Given the description of an element on the screen output the (x, y) to click on. 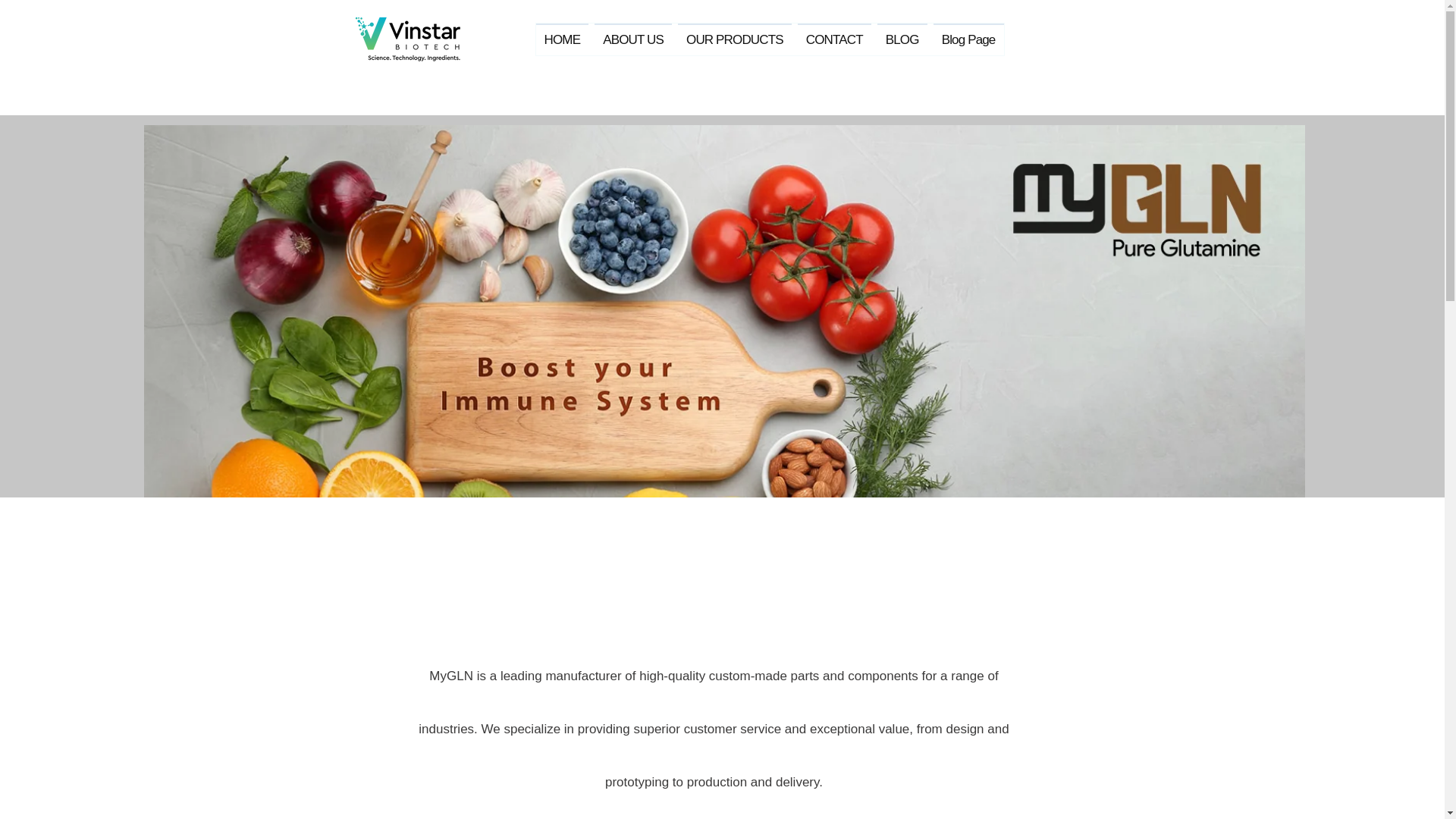
Vinstar Header Logo-2.png (407, 38)
ABOUT US (632, 39)
BLOG (902, 39)
HOME (561, 39)
OUR PRODUCTS (735, 39)
CONTACT (833, 39)
Blog Page (968, 39)
